Given the description of an element on the screen output the (x, y) to click on. 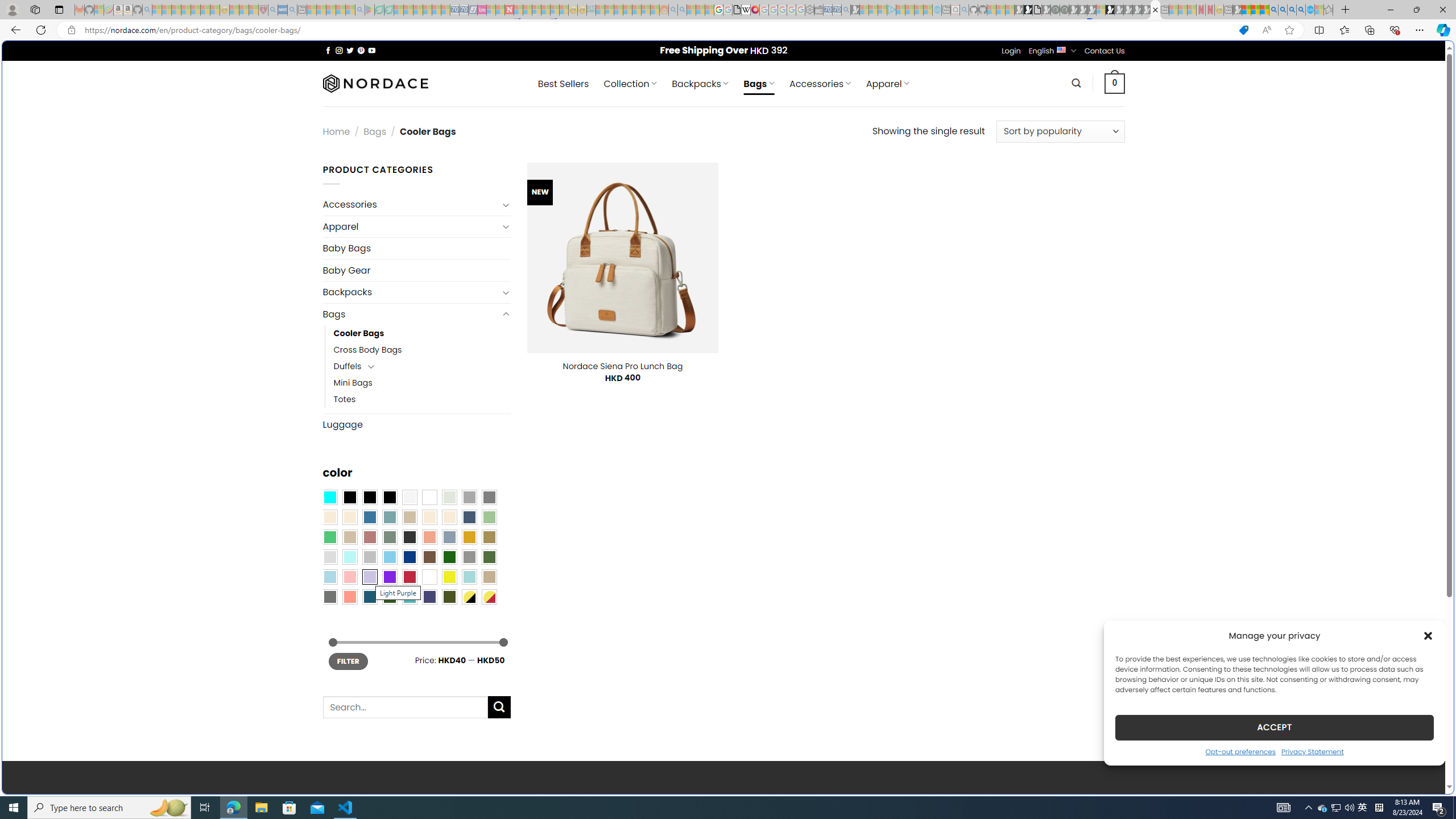
Pink (349, 577)
Teal (408, 596)
Future Focus Report 2024 - Sleeping (1064, 9)
Recipes - MSN - Sleeping (234, 9)
Sage (389, 536)
  Best Sellers (563, 83)
google_privacy_policy_zh-CN.pdf (1118, 683)
FILTER (347, 661)
Gold (468, 536)
